Given the description of an element on the screen output the (x, y) to click on. 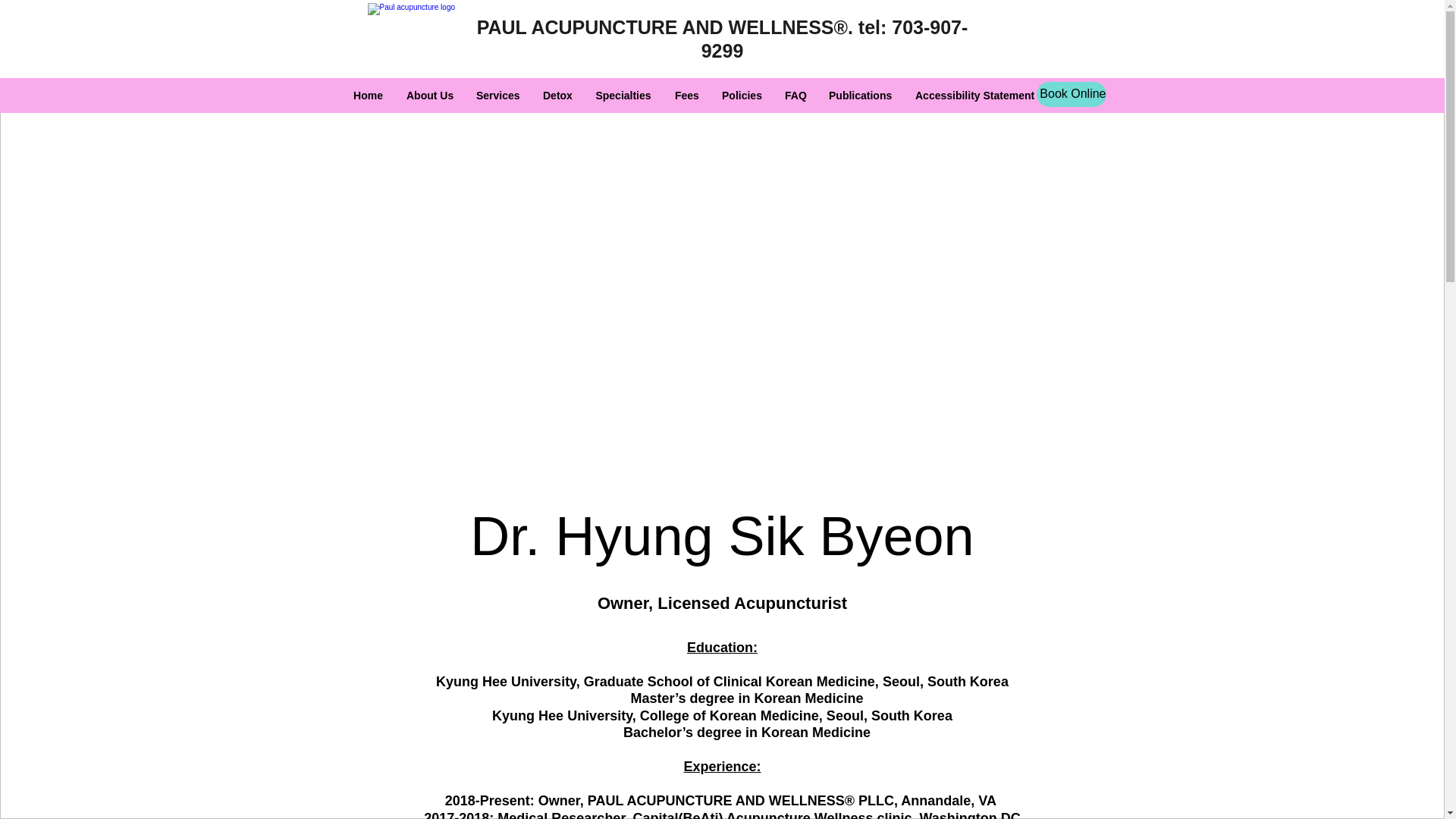
Specialties (622, 94)
Policies (741, 94)
Book Online (1070, 94)
Accessibility Statement (974, 94)
Fees (686, 94)
Publications (859, 94)
Detox (557, 94)
Home (368, 94)
FAQ (794, 94)
About Us (429, 94)
Services (497, 94)
